Given the description of an element on the screen output the (x, y) to click on. 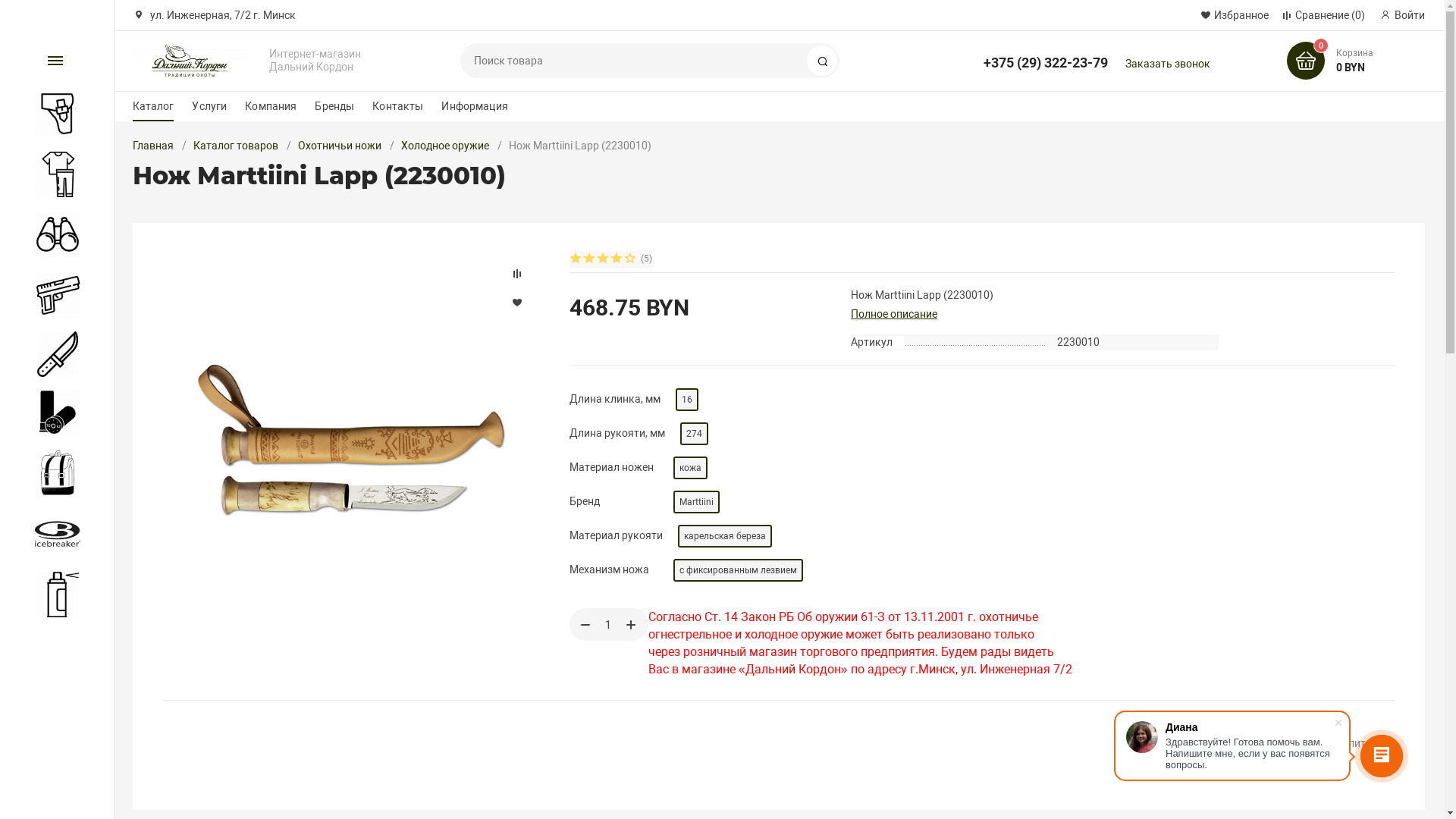
1 Element type: hover (576, 259)
0 Element type: text (1305, 60)
+375 (29) 322-23-79 Element type: text (1045, 55)
5 Element type: hover (630, 259)
3 Element type: hover (603, 259)
2 Element type: hover (589, 259)
4 Element type: hover (617, 259)
